Given the description of an element on the screen output the (x, y) to click on. 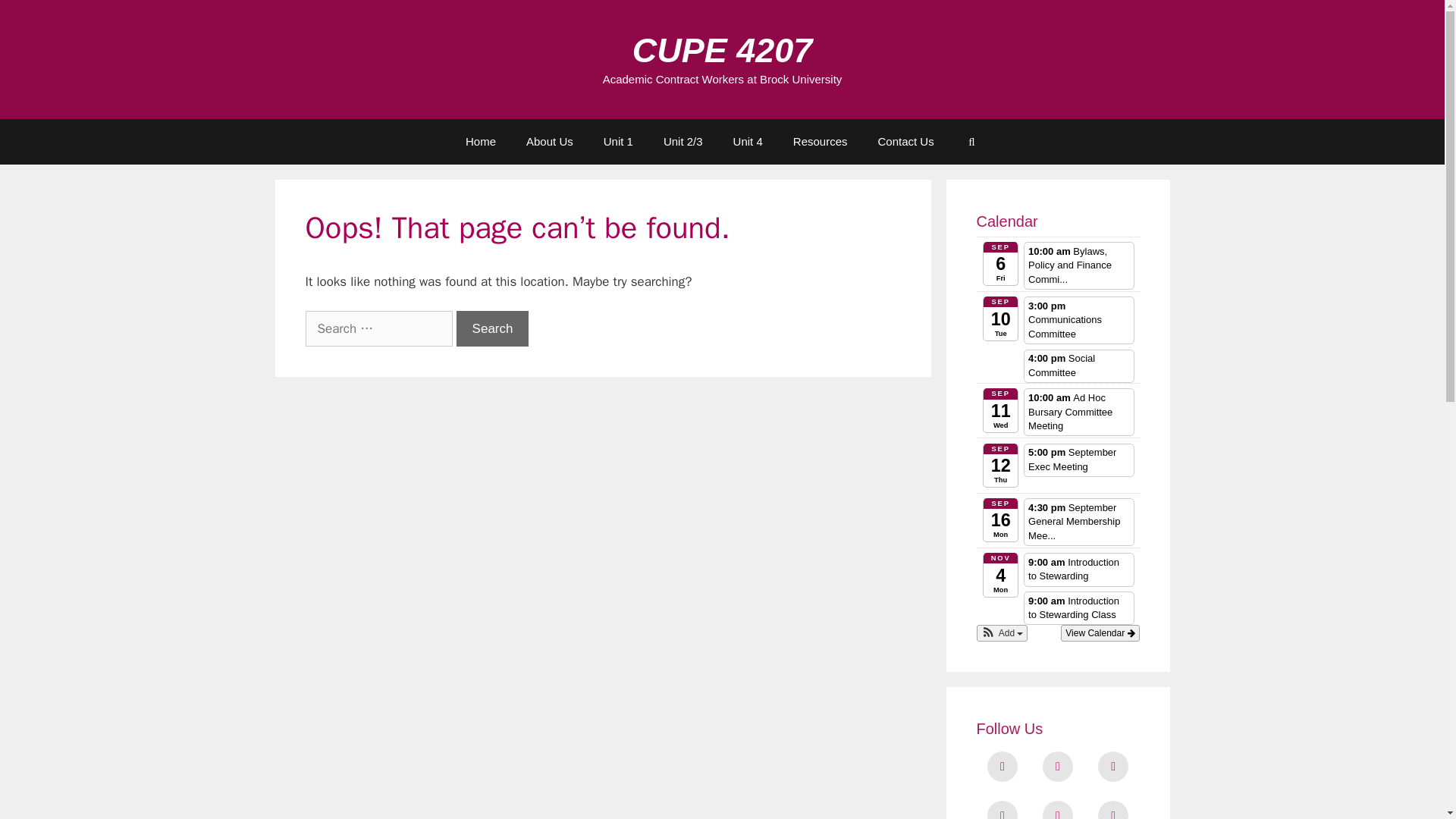
About Us (549, 140)
Search (493, 329)
Search (493, 329)
Unit 1 (617, 140)
CUPE 4207 (721, 50)
10:00 am Bylaws, Policy and Finance Commi... (1078, 265)
4:00 pm Social Committee (1078, 366)
9:00 am Introduction to Stewarding (1078, 569)
Search for: (377, 329)
Resources (820, 140)
